Given the description of an element on the screen output the (x, y) to click on. 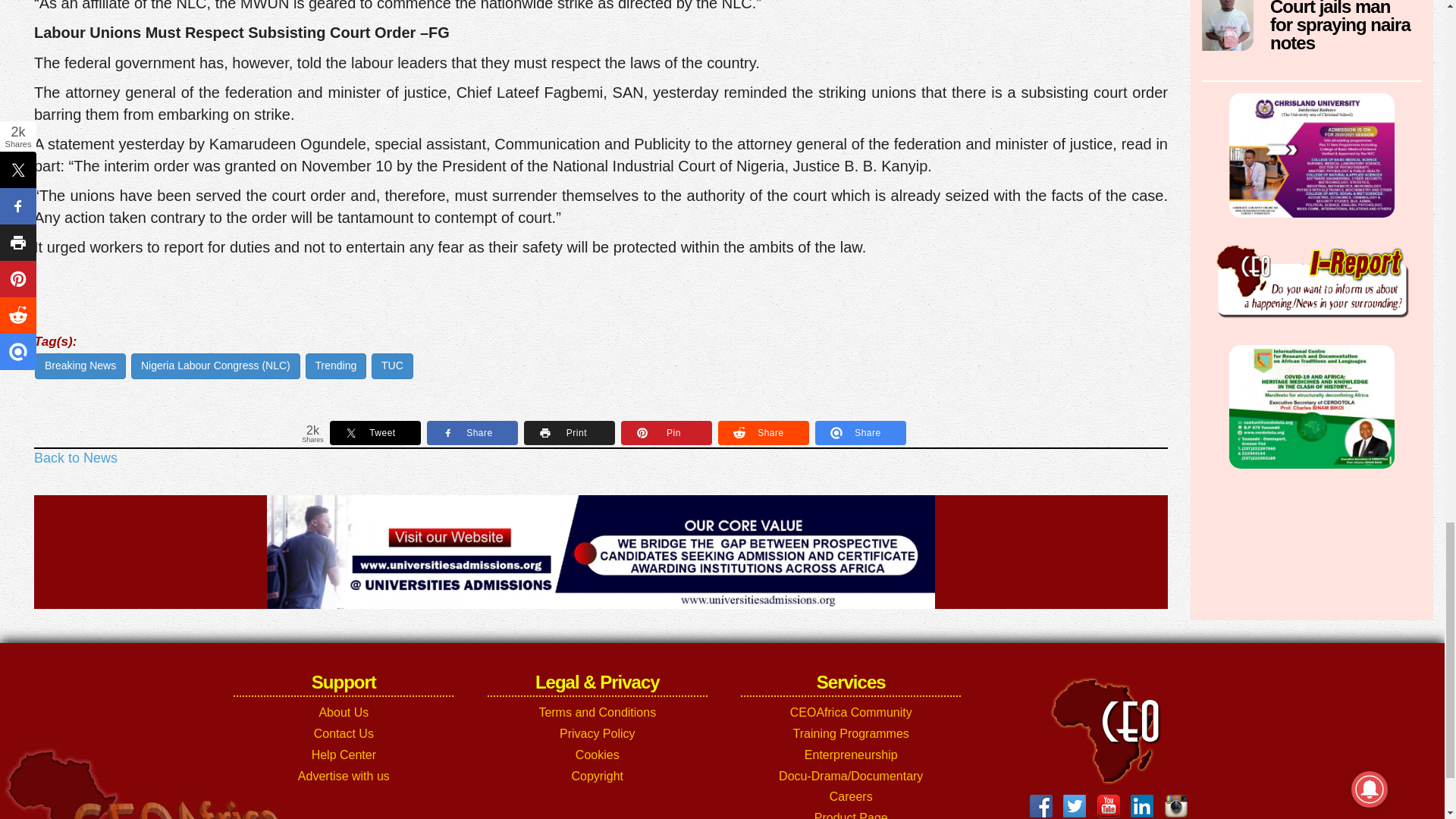
Breaking News (79, 365)
TUC (392, 365)
Trending (335, 365)
Breaking News (79, 365)
Trending (336, 365)
Back to News (75, 458)
TUC (392, 365)
